Given the description of an element on the screen output the (x, y) to click on. 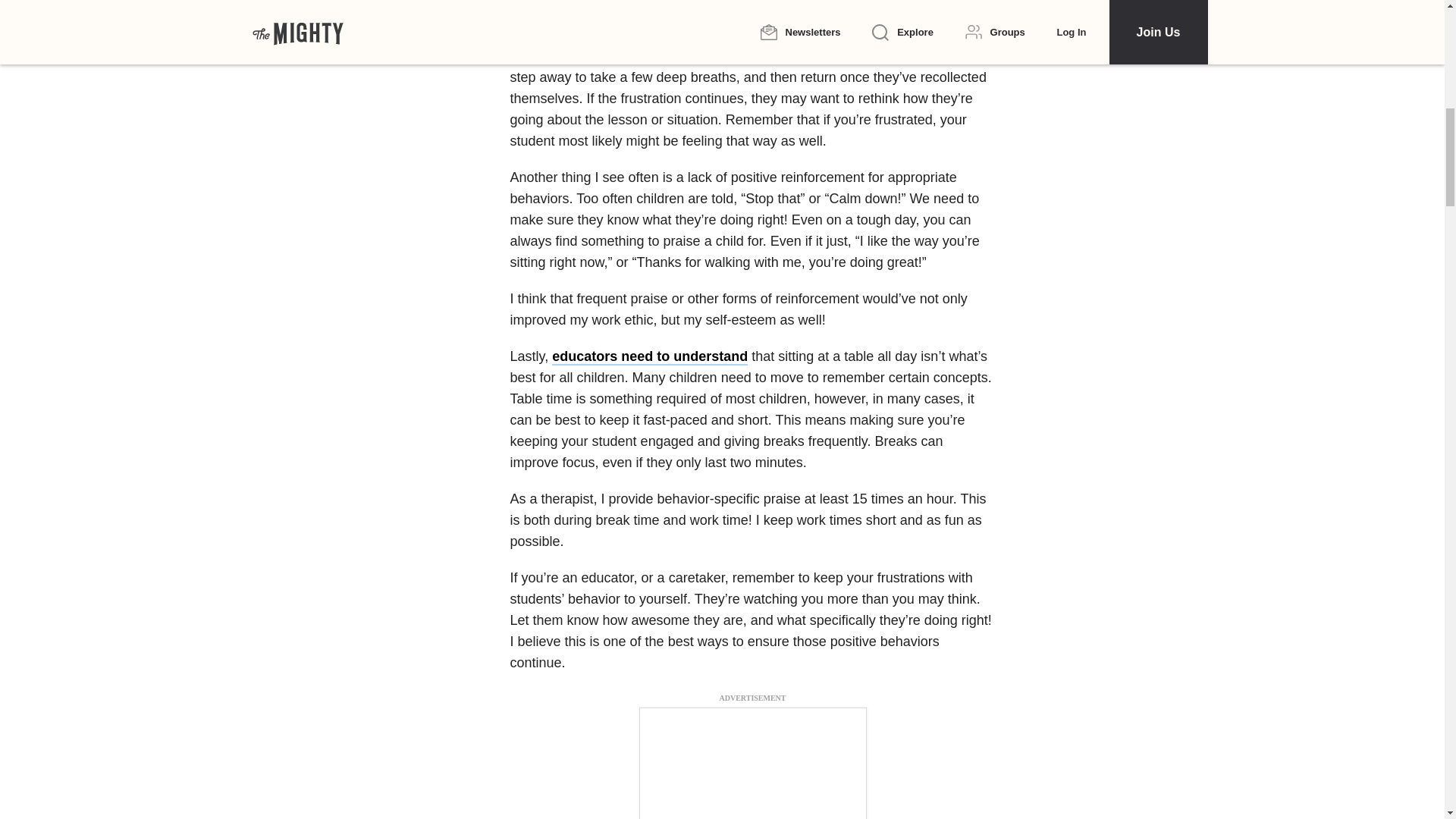
educators need to understand (649, 356)
